Given the description of an element on the screen output the (x, y) to click on. 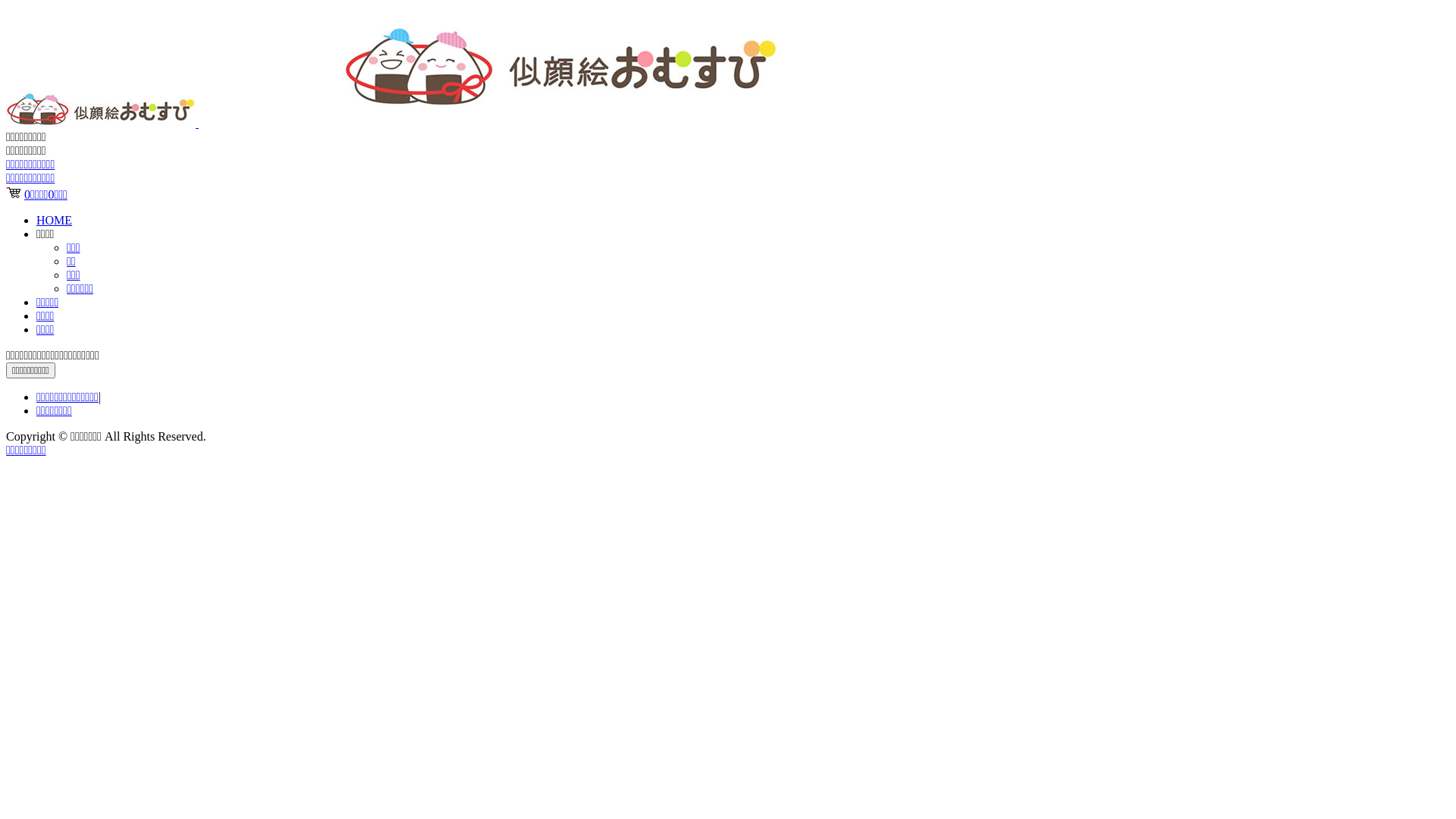
HOME Element type: text (54, 219)
